Given the description of an element on the screen output the (x, y) to click on. 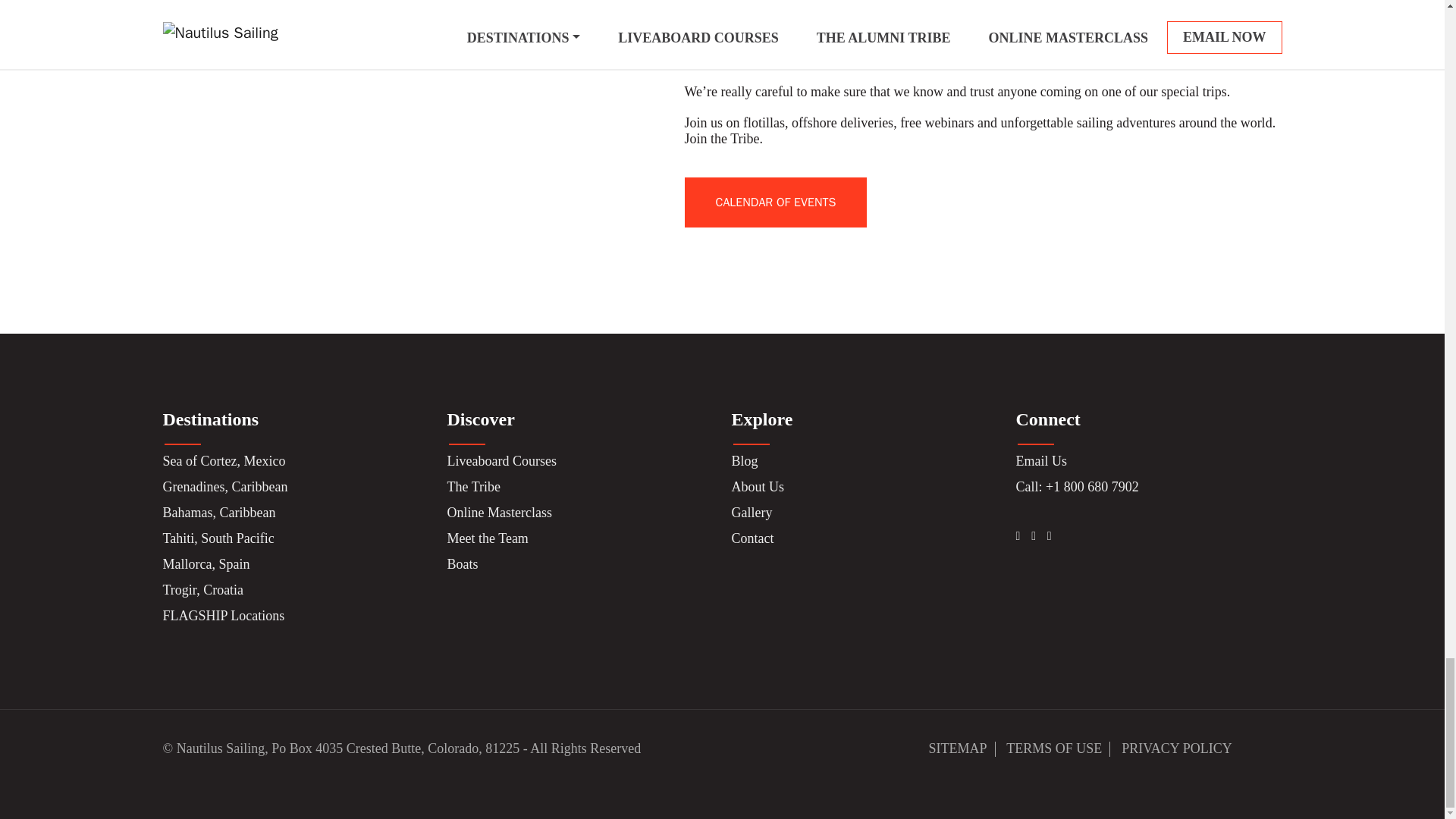
Trogir, Croatia (202, 589)
Mallorca, Spain (204, 563)
Contact (751, 538)
CALENDAR OF EVENTS (775, 202)
Sea of Cortez, Mexico (223, 460)
Gallery (750, 512)
Grenadines, Caribbean (223, 486)
FLAGSHIP Locations (222, 615)
About Us (757, 486)
Blog (743, 460)
Boats (462, 563)
Email Us (1041, 460)
The Tribe (473, 486)
Liveaboard Courses (501, 460)
Bahamas, Caribbean (218, 512)
